Given the description of an element on the screen output the (x, y) to click on. 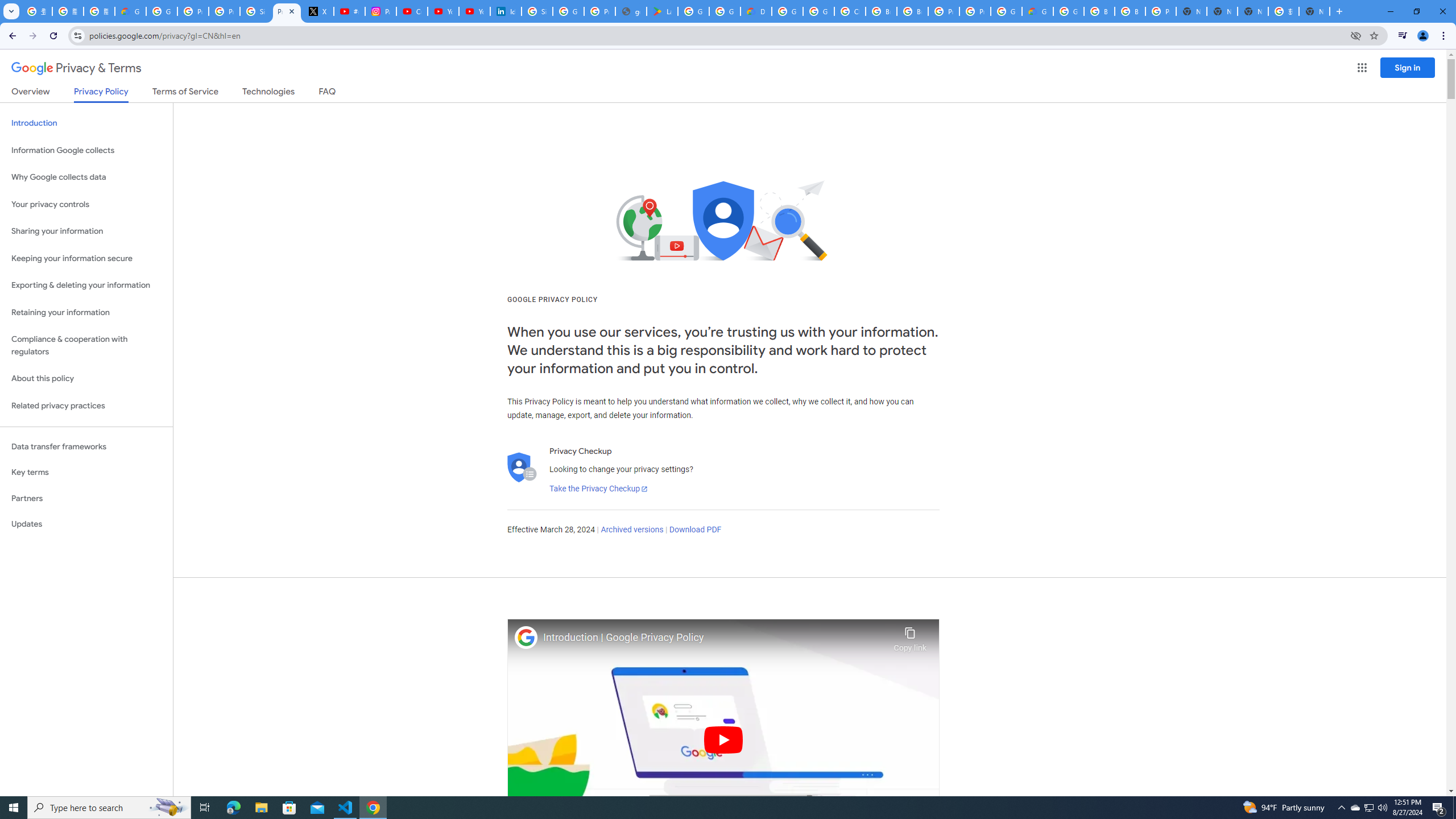
#nbabasketballhighlights - YouTube (349, 11)
Sign in - Google Accounts (255, 11)
Copy link (909, 636)
Partners (86, 497)
Archived versions (631, 529)
Browse Chrome as a guest - Computer - Google Chrome Help (1098, 11)
Play (723, 739)
Data transfer frameworks (86, 446)
